Given the description of an element on the screen output the (x, y) to click on. 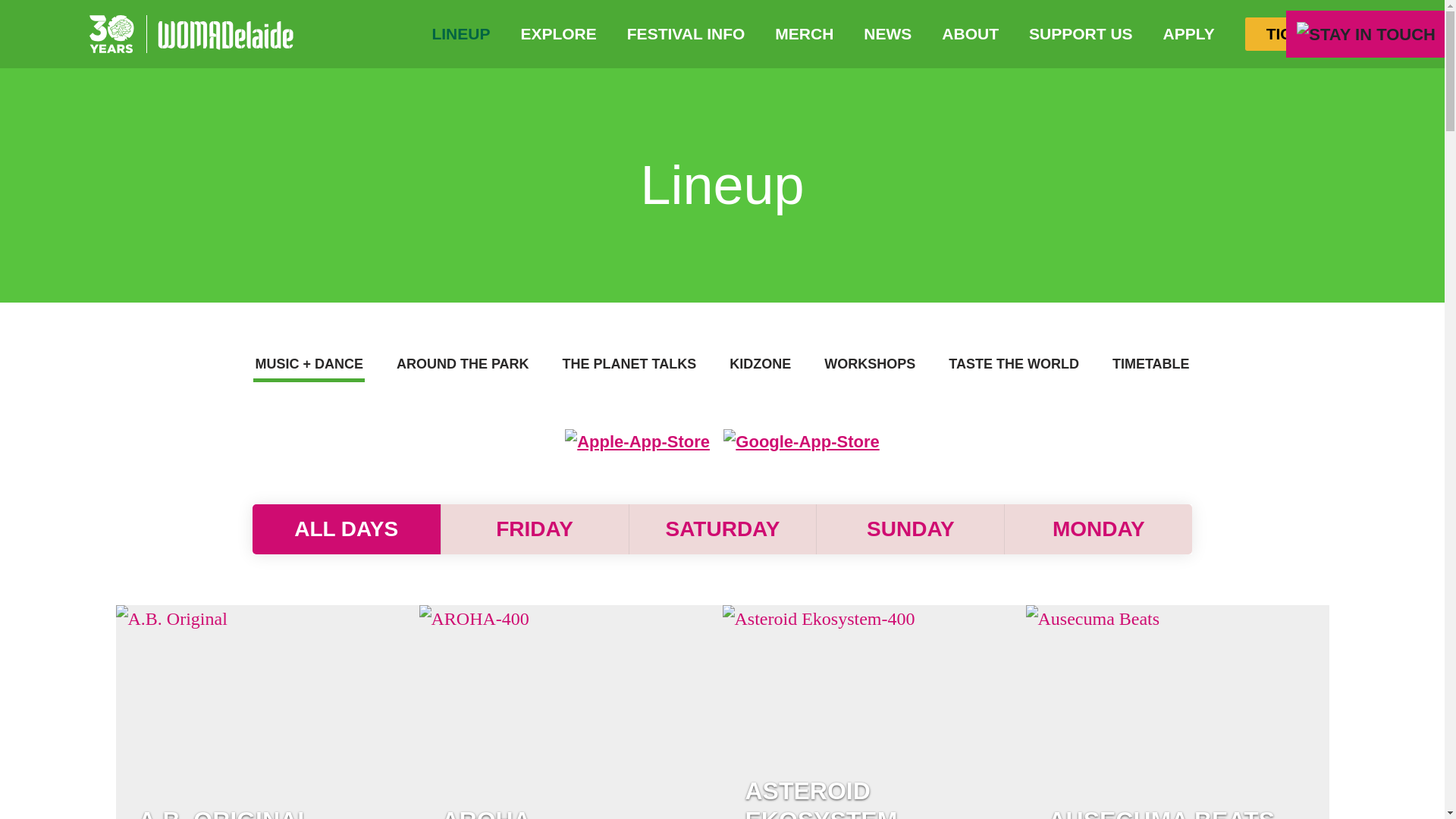
MERCH (804, 33)
FESTIVAL INFO (685, 33)
ABOUT (969, 33)
LINEUP (460, 33)
NEWS (887, 33)
EXPLORE (558, 33)
